Given the description of an element on the screen output the (x, y) to click on. 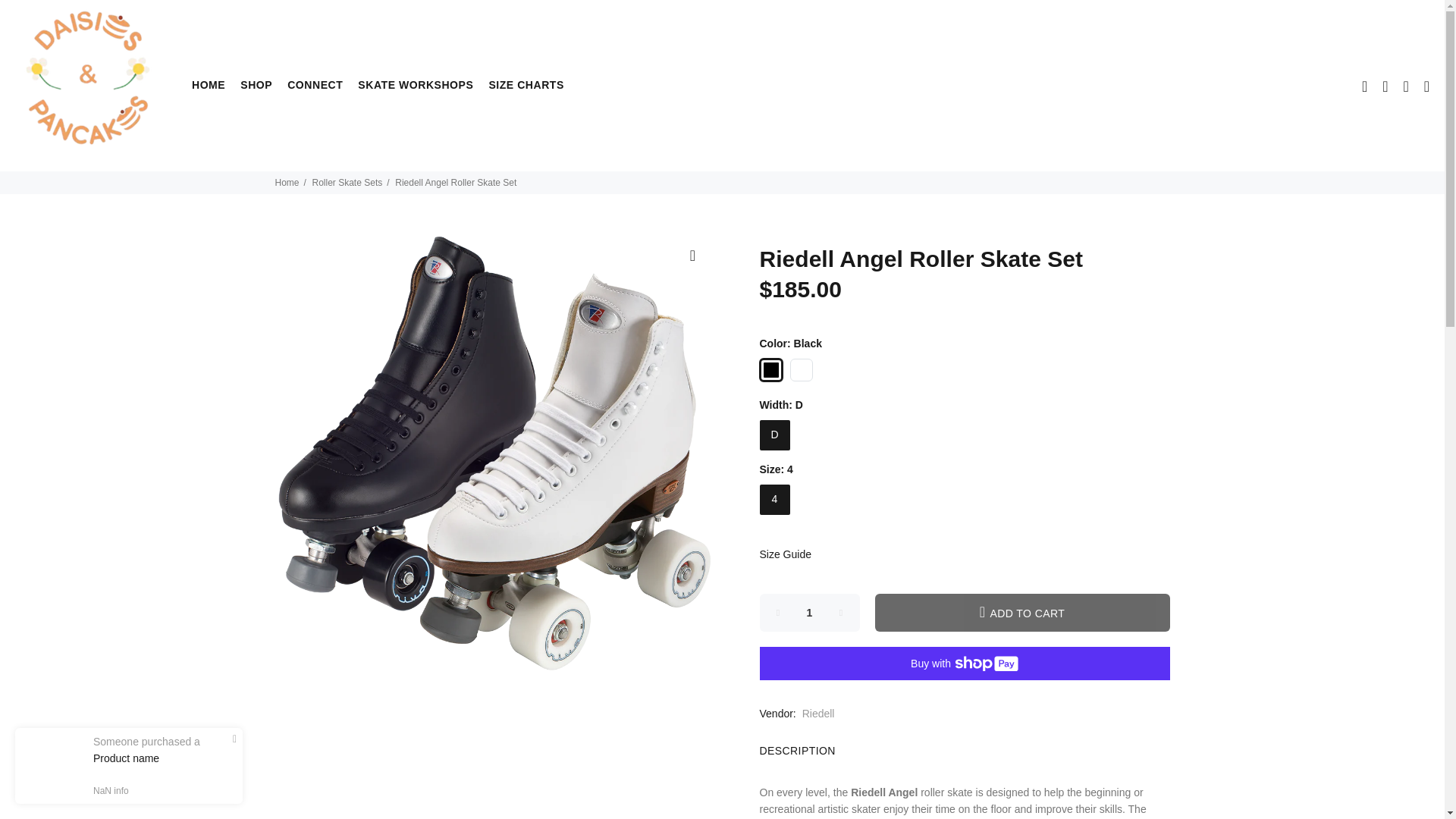
CONNECT (314, 85)
HOME (207, 85)
1 (810, 612)
SKATE WORKSHOPS (415, 85)
SHOP (255, 85)
SIZE CHARTS (522, 85)
